Given the description of an element on the screen output the (x, y) to click on. 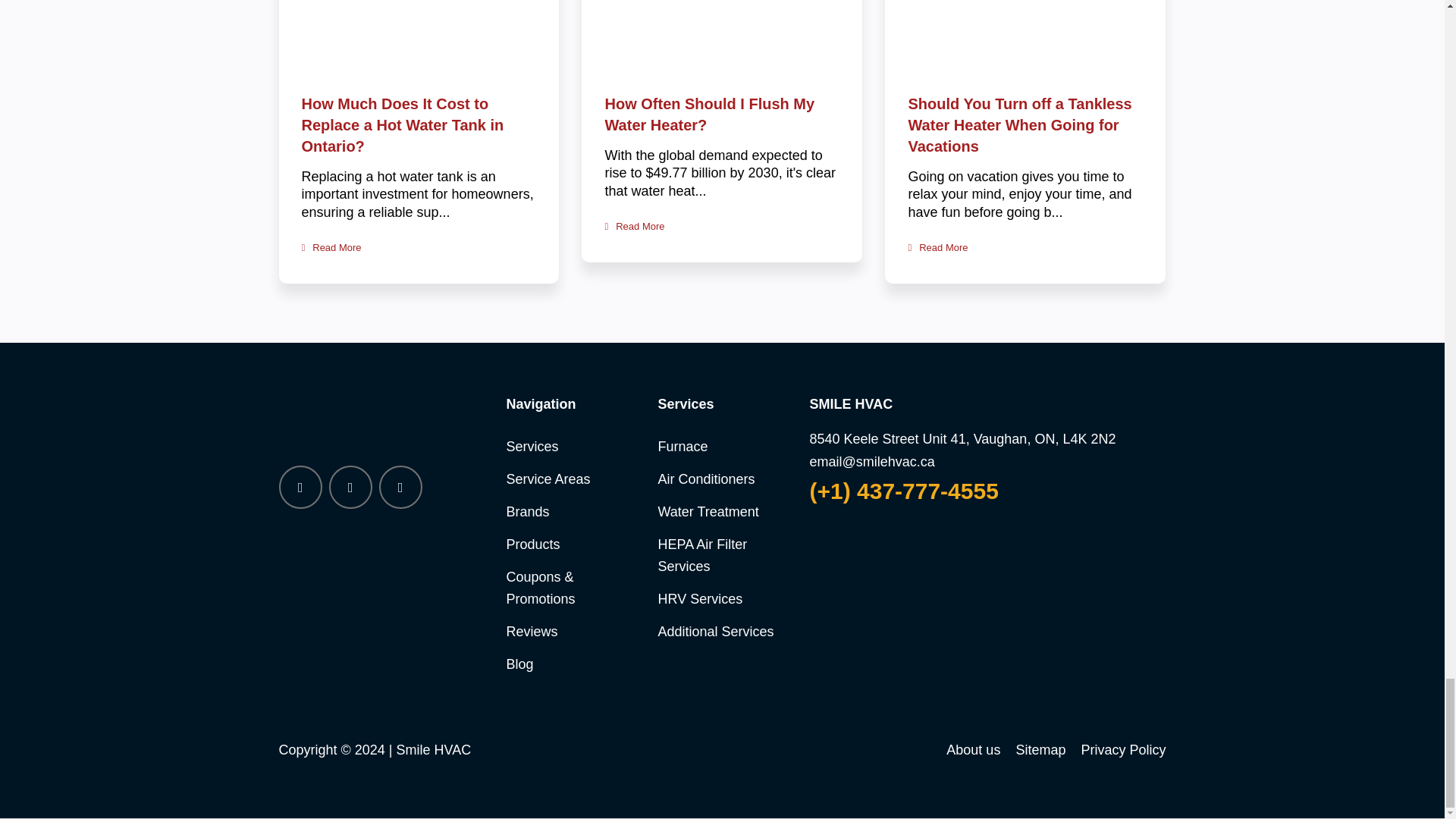
instagram (400, 487)
facebook (300, 487)
Blog - How Often Should I Flush My Water Heater? (633, 226)
pinterest (350, 487)
How Often Should I Flush My Water Heater? (708, 114)
